Given the description of an element on the screen output the (x, y) to click on. 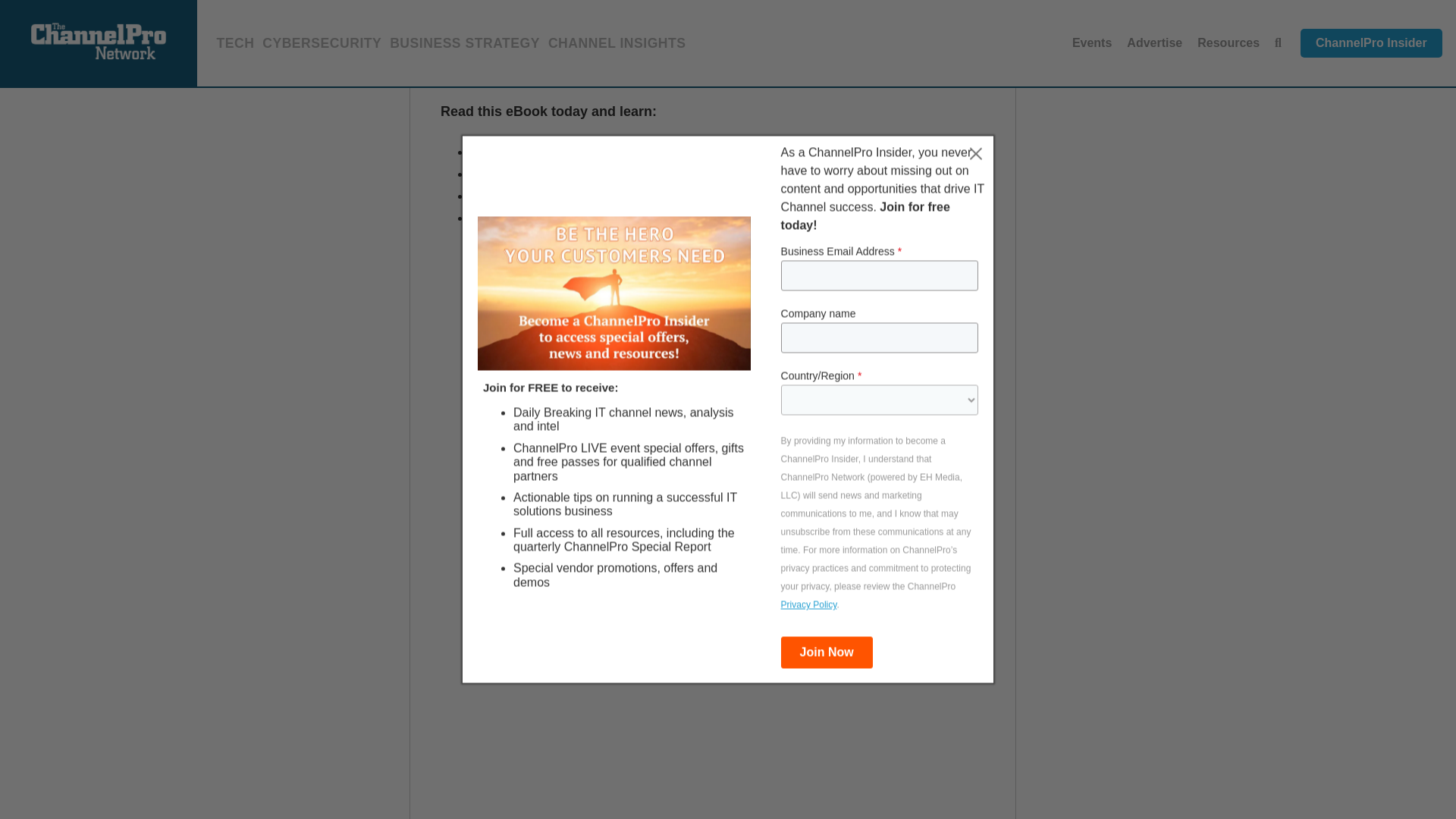
3rd party ad content (1160, 54)
